Given the description of an element on the screen output the (x, y) to click on. 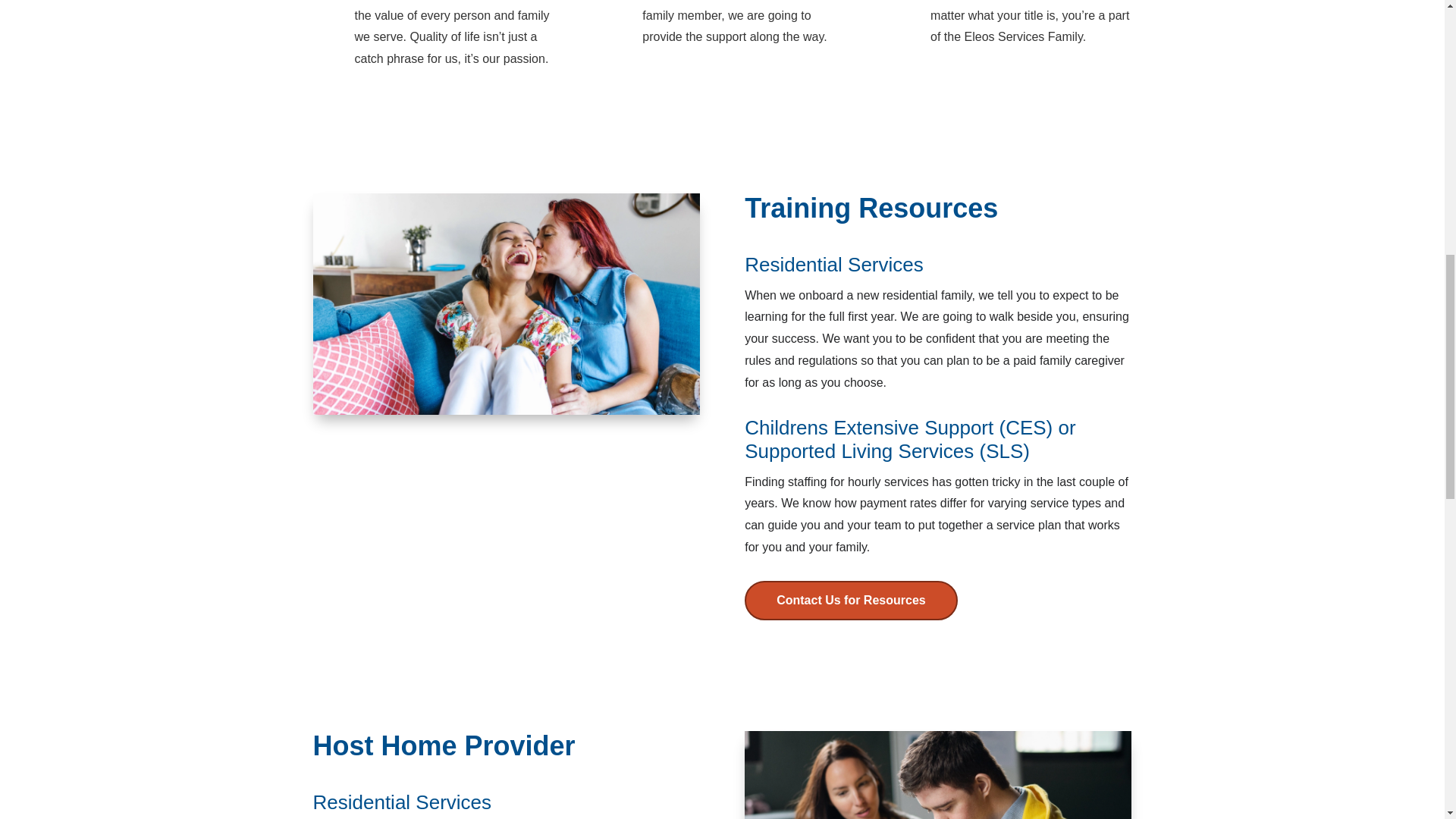
Contact Us for Resources (851, 599)
Join Us 2 (937, 775)
Join Us 1 (505, 303)
